Given the description of an element on the screen output the (x, y) to click on. 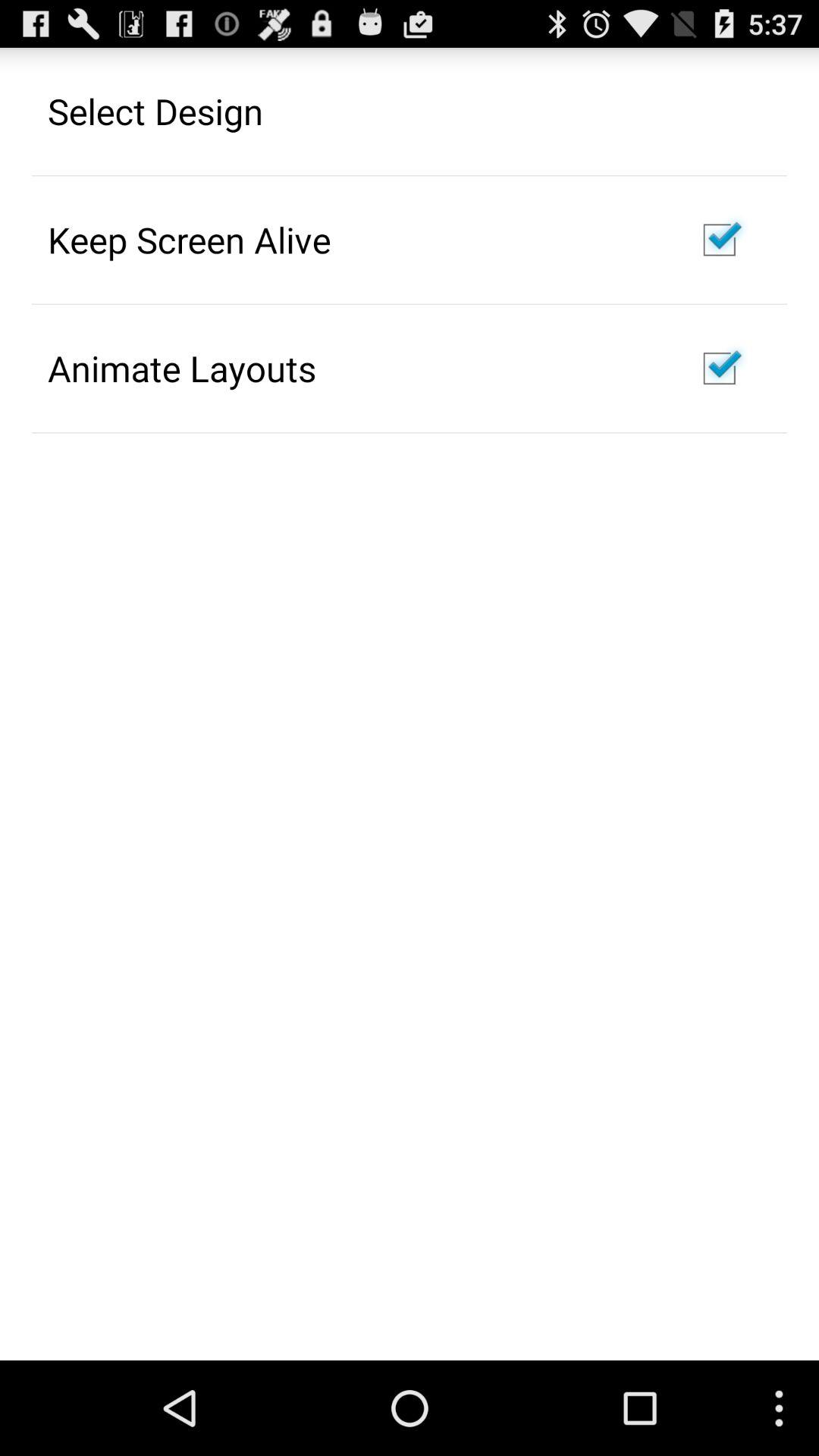
press the app below the select design app (189, 239)
